Given the description of an element on the screen output the (x, y) to click on. 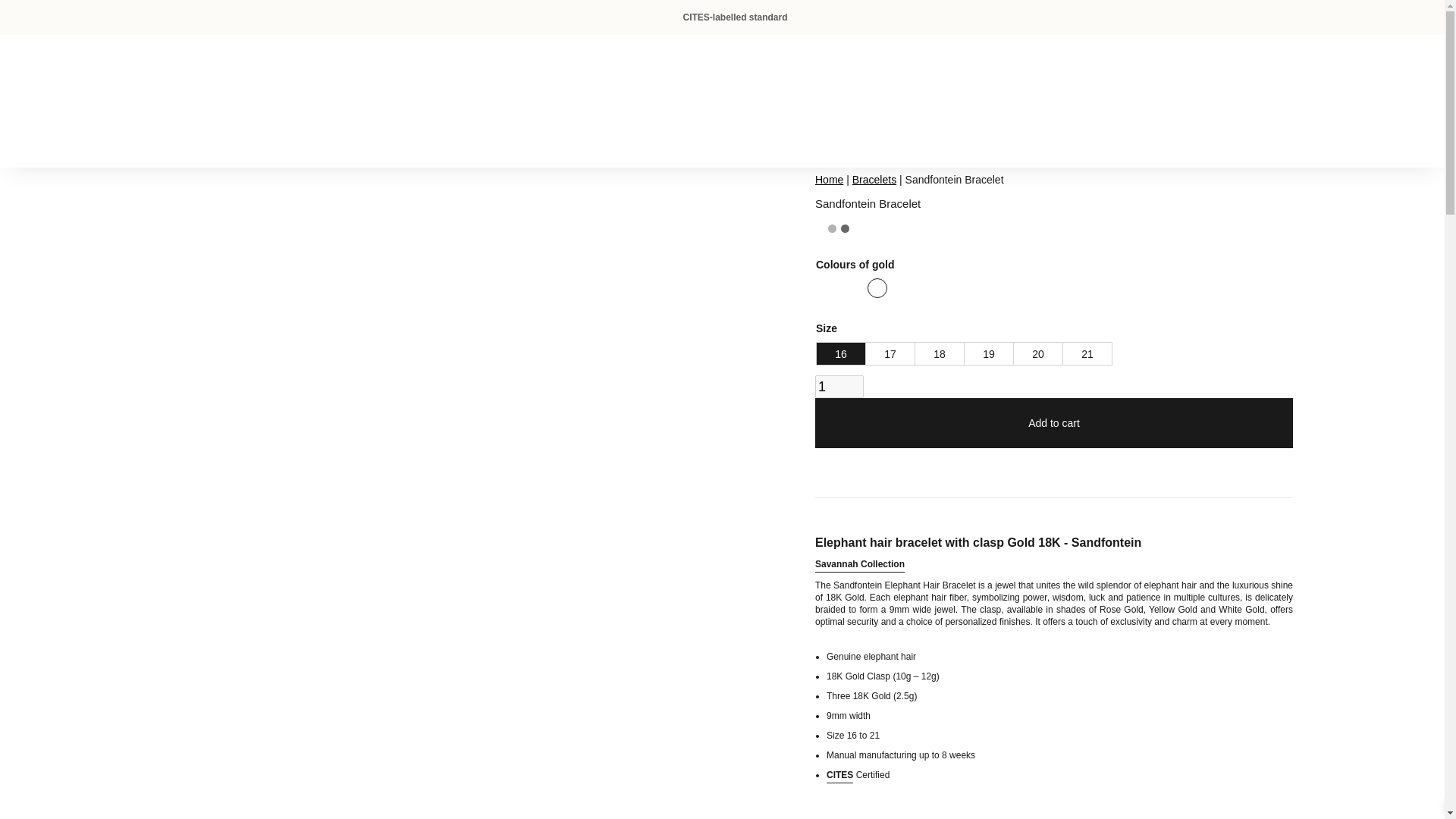
Back (185, 138)
18 (939, 354)
19 (988, 354)
21 (1087, 354)
White Gold (851, 288)
Pink Gold (825, 288)
17 (890, 354)
Yellow Gold (876, 288)
Bracelets (873, 179)
1 (839, 386)
16 (841, 354)
Home (829, 179)
CITES (840, 774)
Savannah Collection (859, 563)
20 (1037, 354)
